Given the description of an element on the screen output the (x, y) to click on. 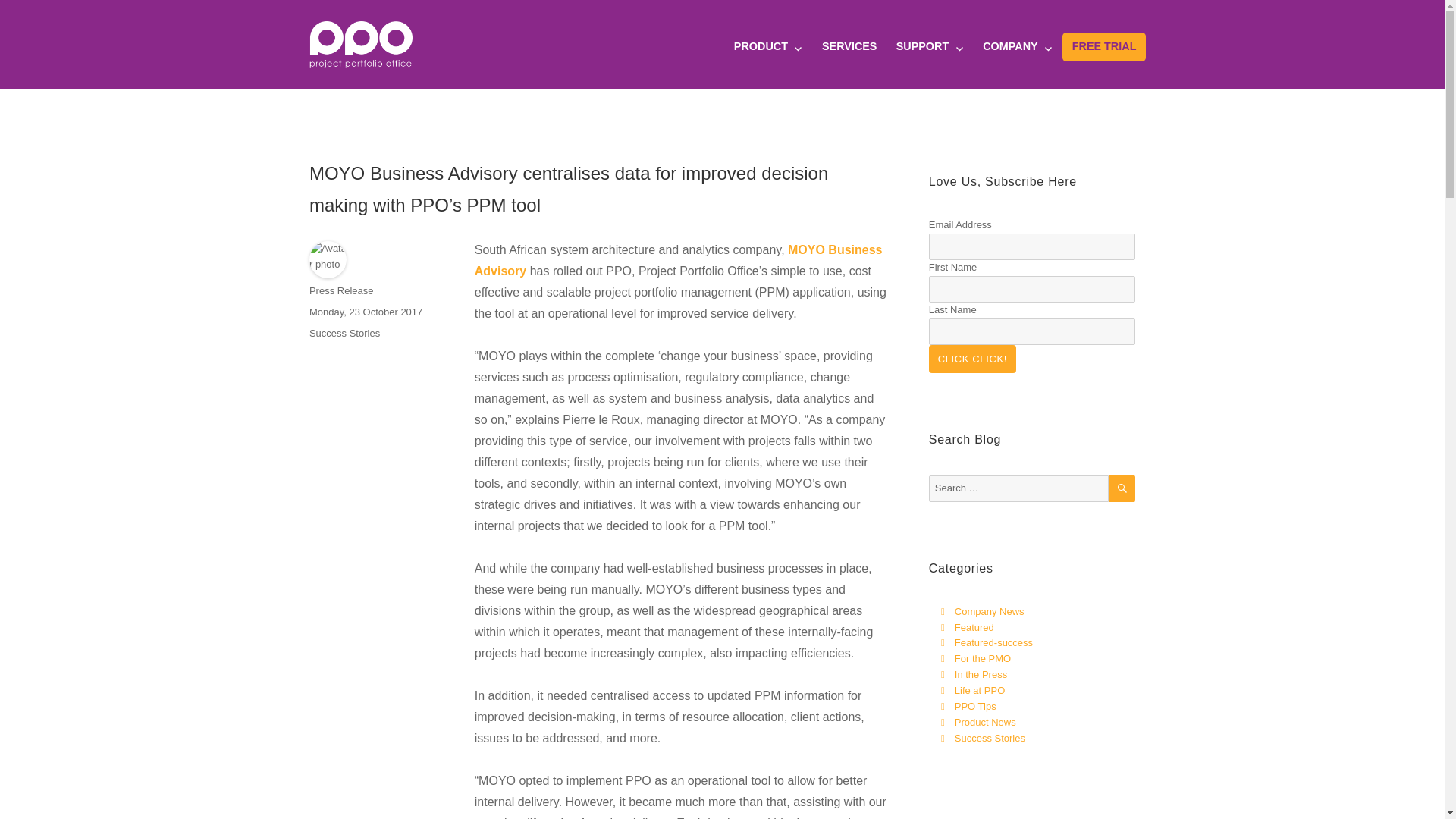
Search for: (1018, 488)
Press Release (341, 291)
MOYO Business Advisory (678, 260)
Monday, 23 October 2017 (365, 312)
PRODUCT (767, 46)
Success Stories (344, 333)
FREE TRIAL (1103, 46)
SERVICES (849, 46)
SUPPORT (930, 46)
COMPANY (1018, 46)
